Given the description of an element on the screen output the (x, y) to click on. 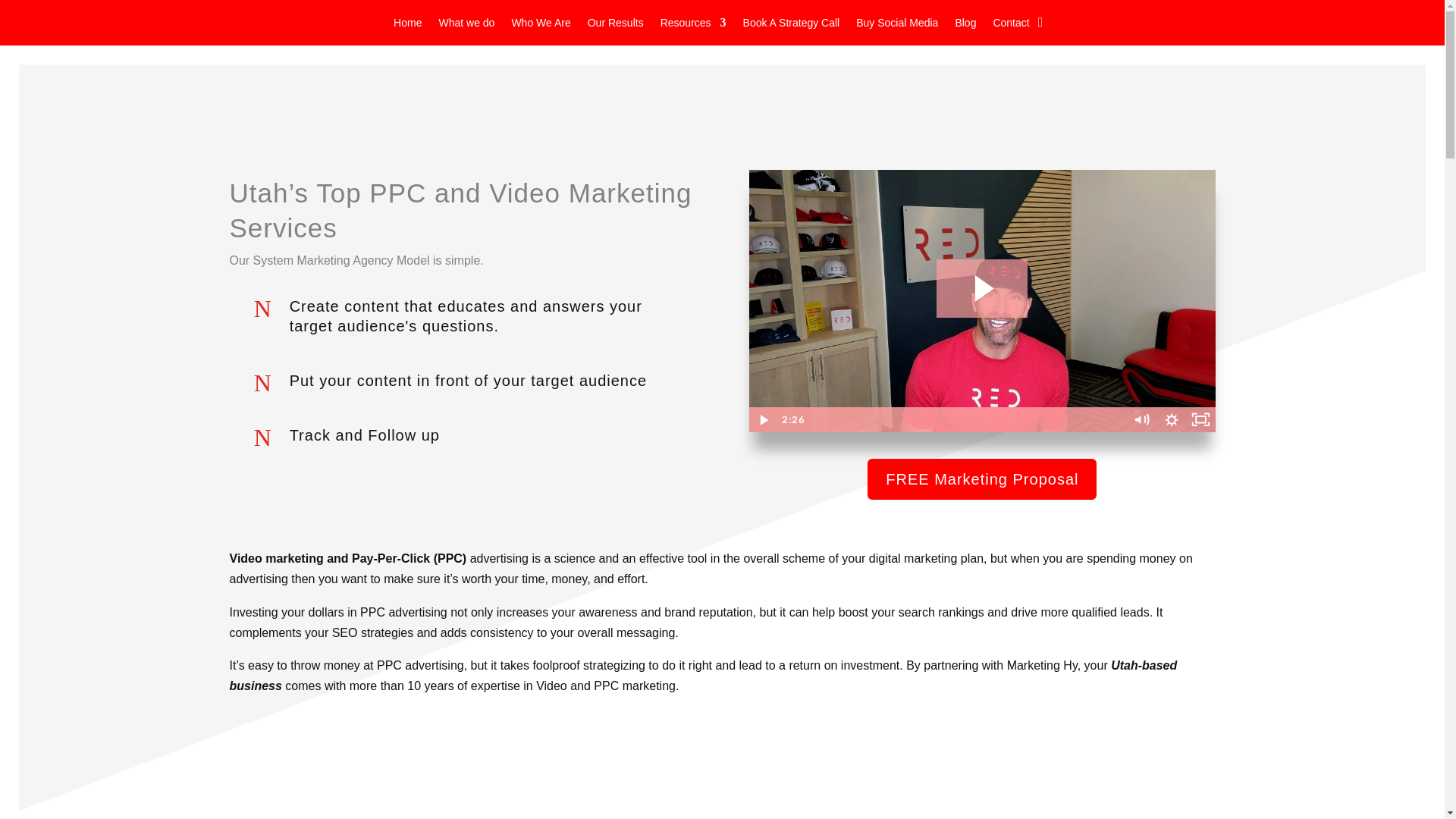
Buy Social Media (896, 25)
Resources (693, 25)
Blog (965, 25)
Who We Are (540, 25)
Our Results (615, 25)
Book A Strategy Call (791, 25)
What we do (466, 25)
Home (407, 25)
Contact (1010, 25)
Show settings menu (1171, 419)
